Given the description of an element on the screen output the (x, y) to click on. 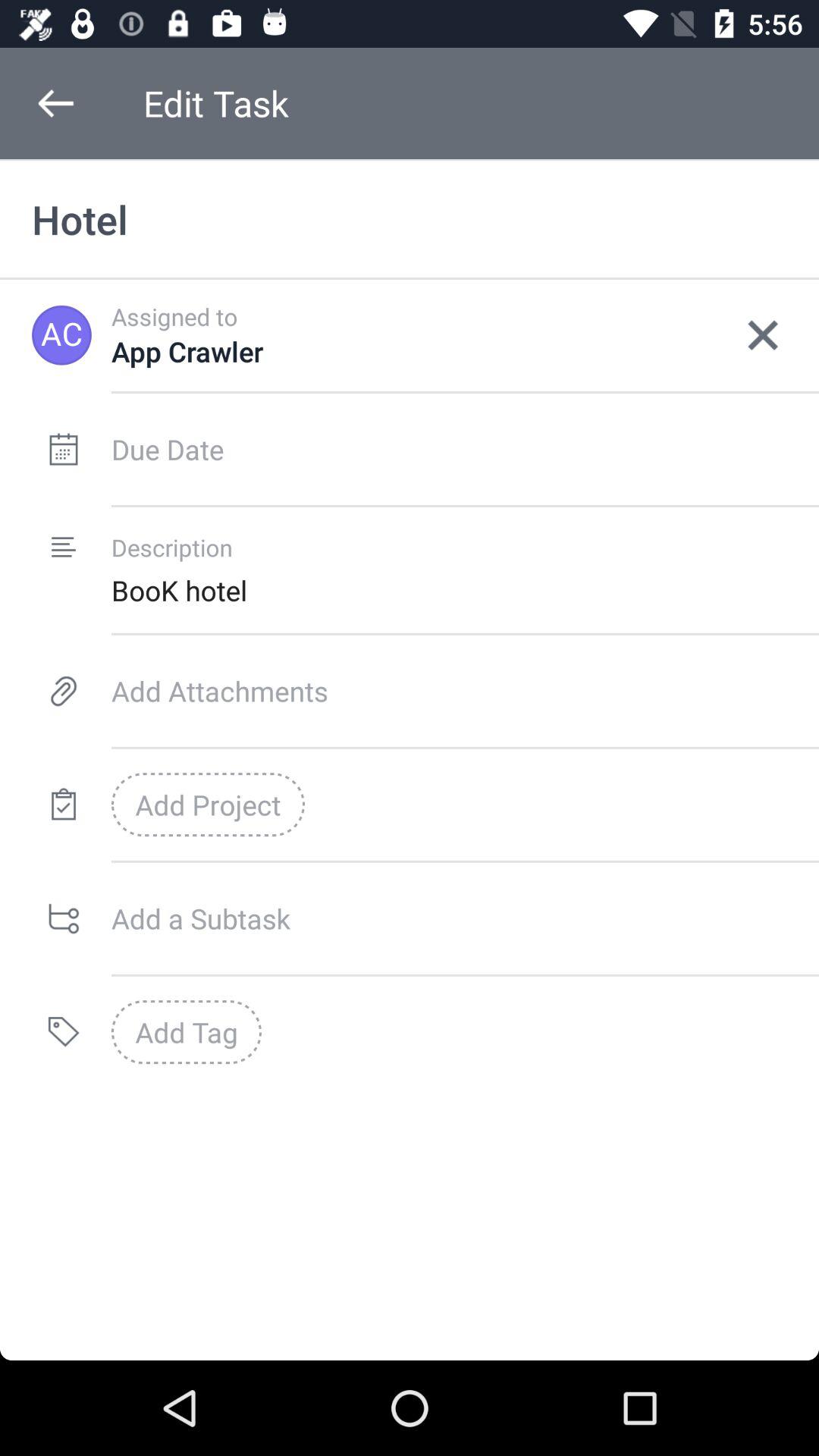
add attachment (465, 690)
